Given the description of an element on the screen output the (x, y) to click on. 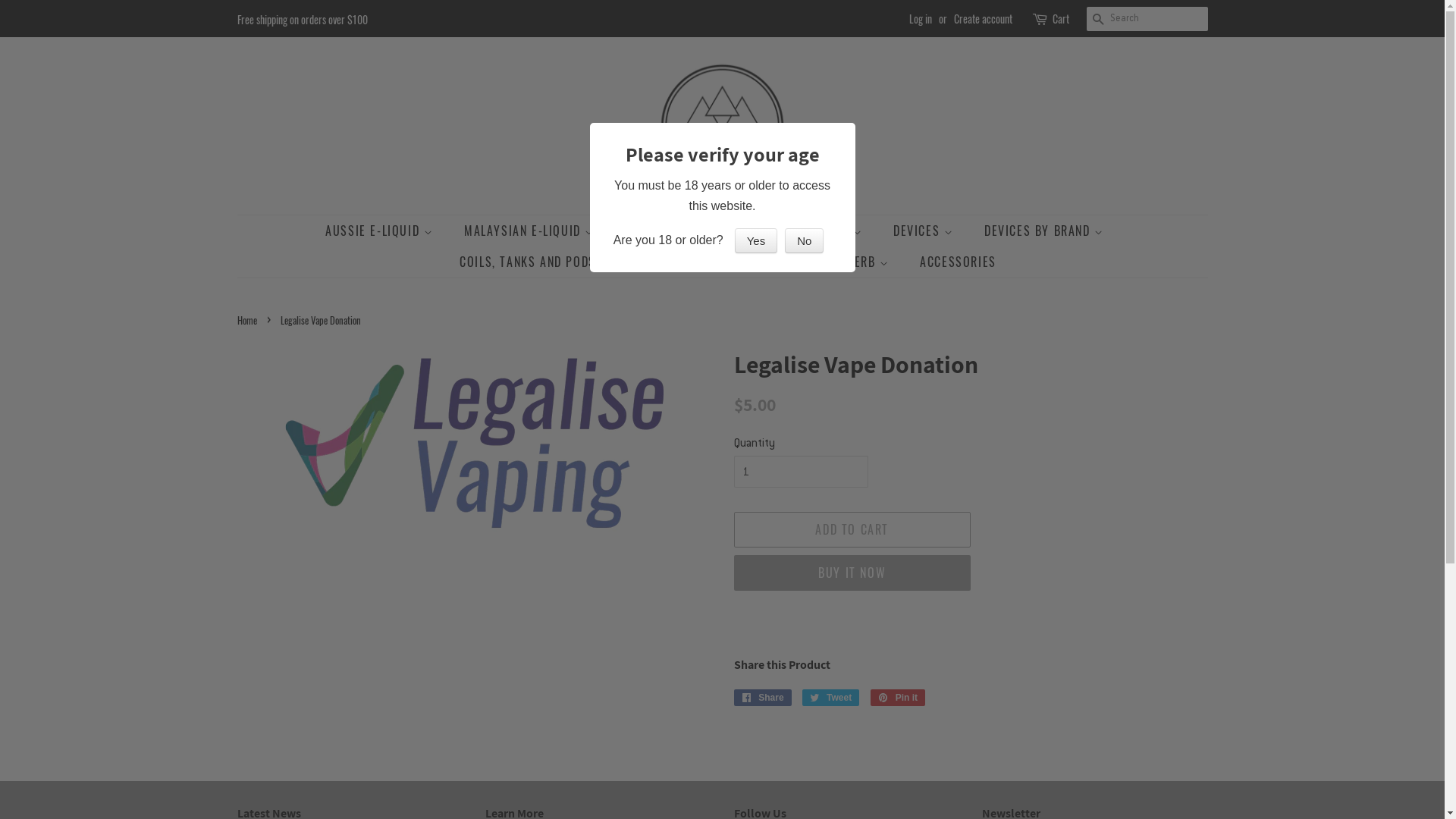
BATTERIES & CHARGERS Element type: text (716, 261)
Create account Element type: text (982, 18)
BUY IT NOW Element type: text (852, 572)
ADD TO CART Element type: text (852, 529)
AUSSIE E-LIQUID Element type: text (386, 230)
SEARCH Element type: text (1097, 18)
Cart Element type: text (1060, 18)
Tweet
Tweet on Twitter Element type: text (830, 697)
Log in Element type: text (919, 18)
DEVICES Element type: text (924, 230)
COILS, TANKS AND PODS Element type: text (536, 261)
DEVICES BY BRAND Element type: text (1045, 230)
DRY HERB Element type: text (855, 261)
Home Element type: text (248, 320)
Share
Share on Facebook Element type: text (762, 697)
MALAYSIAN E-LIQUID Element type: text (530, 230)
ACCESSORIES Element type: text (952, 261)
UK E-LIQUID Element type: text (668, 230)
AMERICAN E-LIQUID Element type: text (802, 230)
Pin it
Pin on Pinterest Element type: text (897, 697)
